Given the description of an element on the screen output the (x, y) to click on. 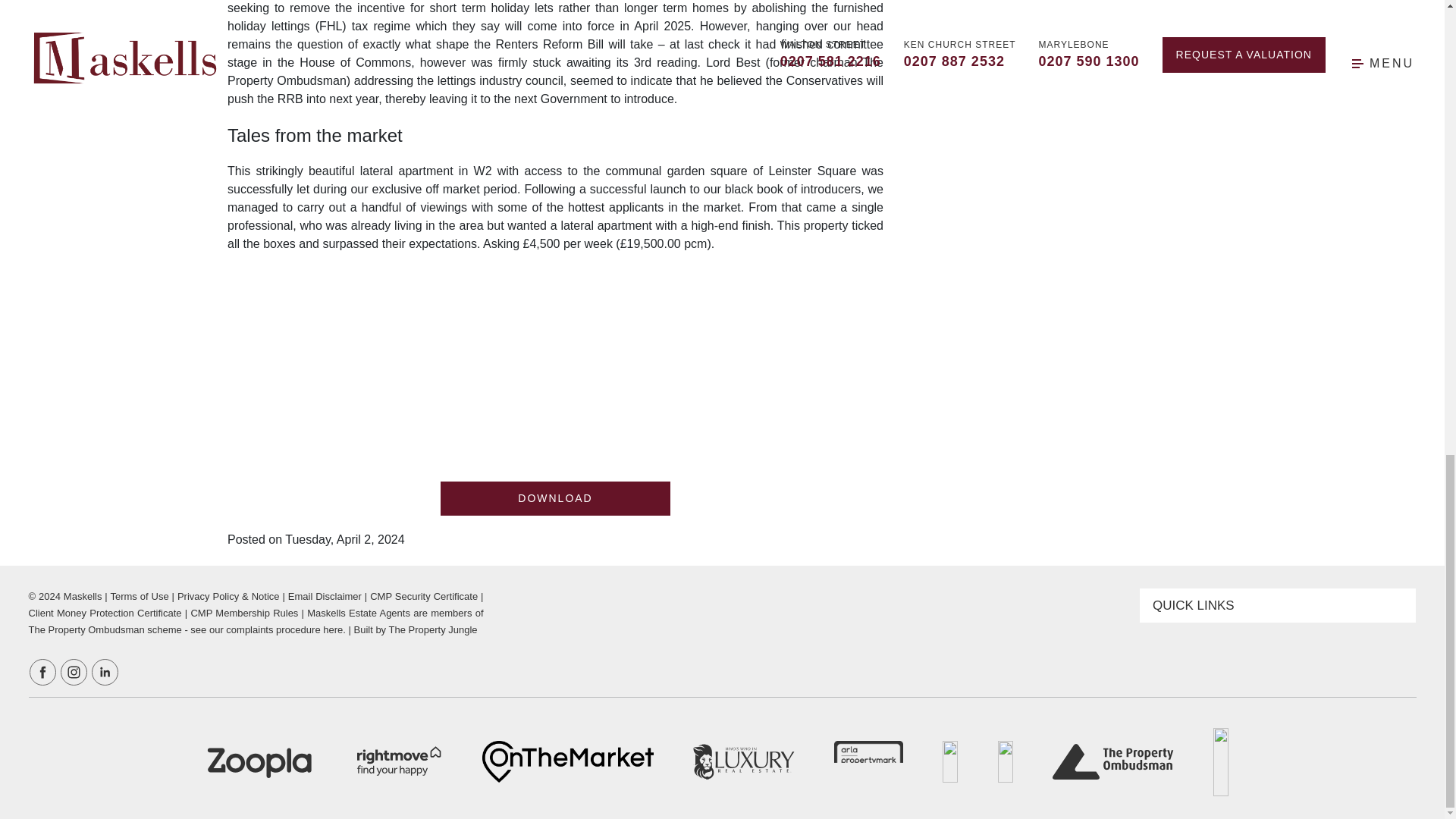
delCreated with Sketch. (743, 761)
